Given the description of an element on the screen output the (x, y) to click on. 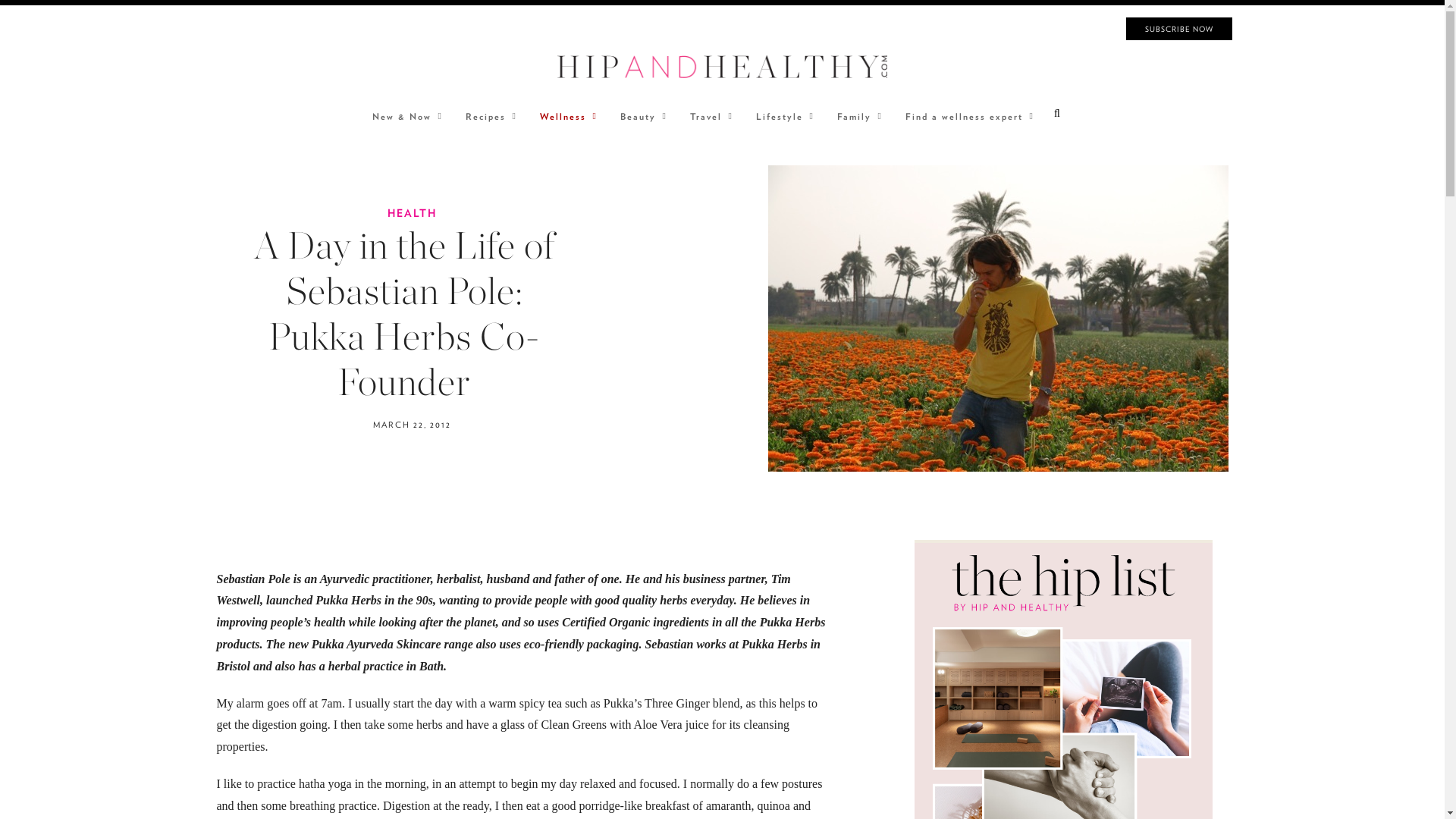
SUBSCRIBE NOW (1178, 28)
Wellness (564, 116)
Beauty (640, 116)
Travel (708, 116)
View all posts in Health (411, 213)
Recipes (486, 116)
